Given the description of an element on the screen output the (x, y) to click on. 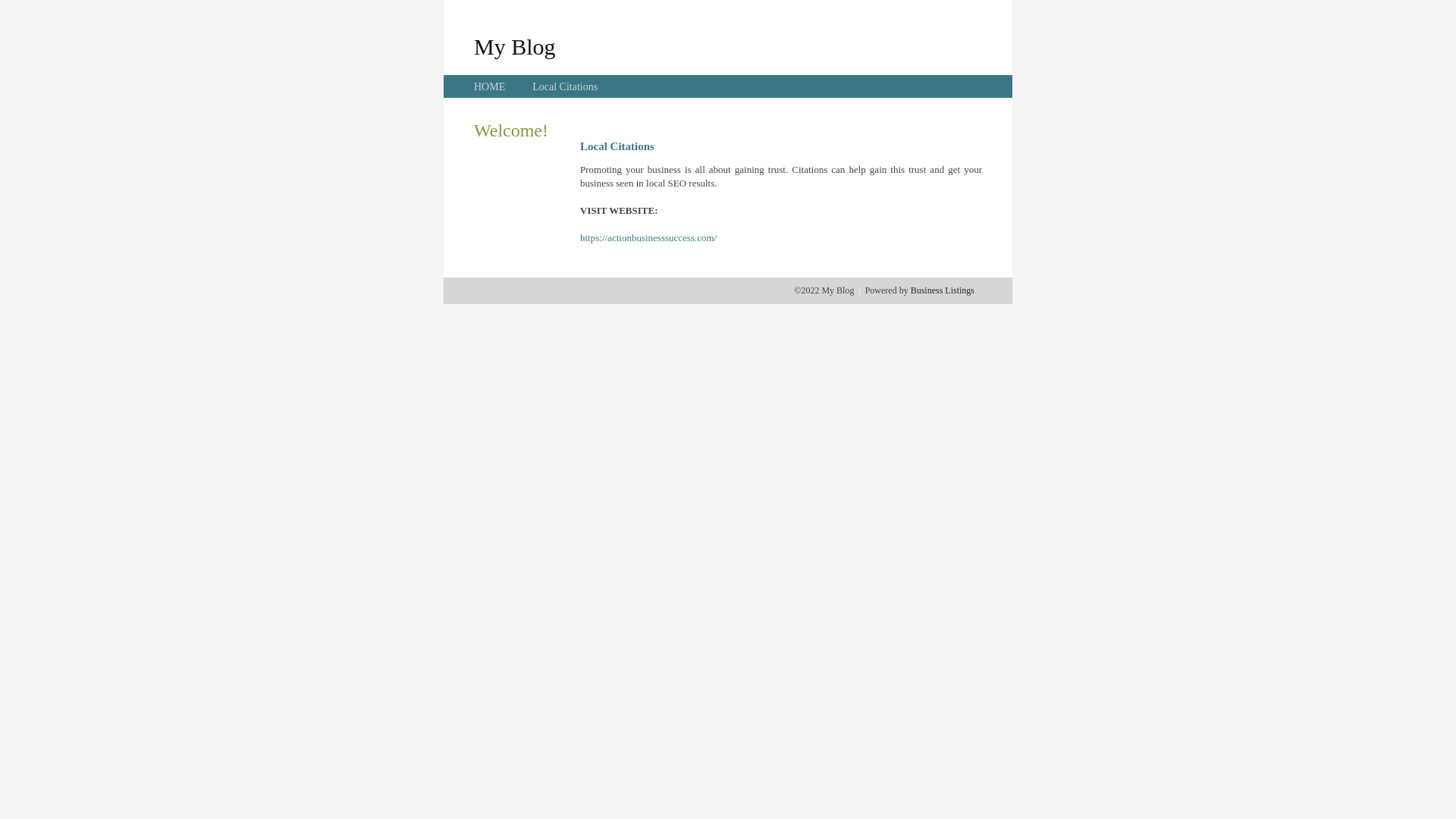
Business Listings Element type: text (942, 290)
Local Citations Element type: text (564, 86)
My Blog Element type: text (514, 46)
HOME Element type: text (489, 86)
https://actionbusinesssuccess.com/ Element type: text (648, 237)
